Given the description of an element on the screen output the (x, y) to click on. 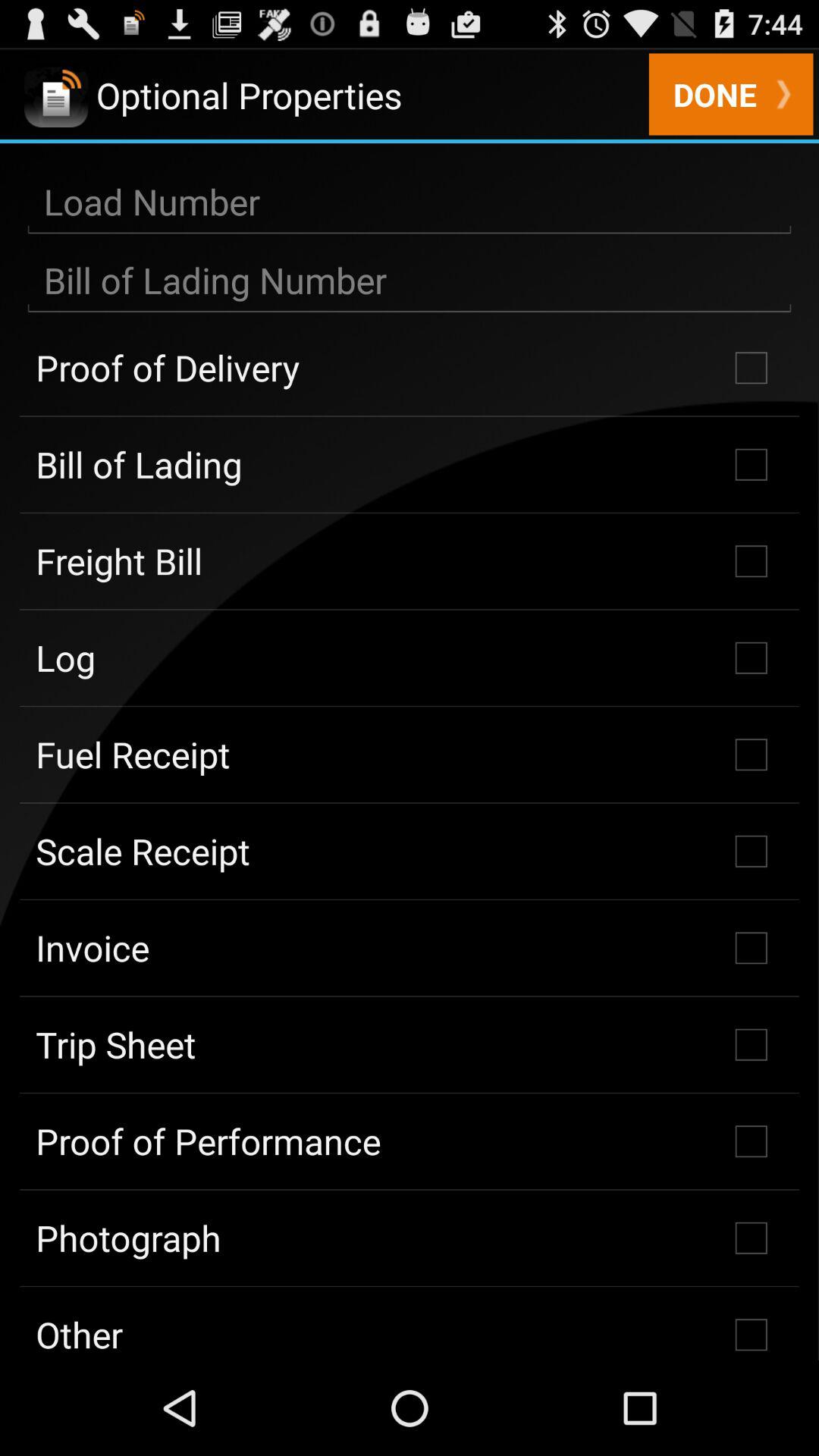
tap invoice icon (409, 947)
